Given the description of an element on the screen output the (x, y) to click on. 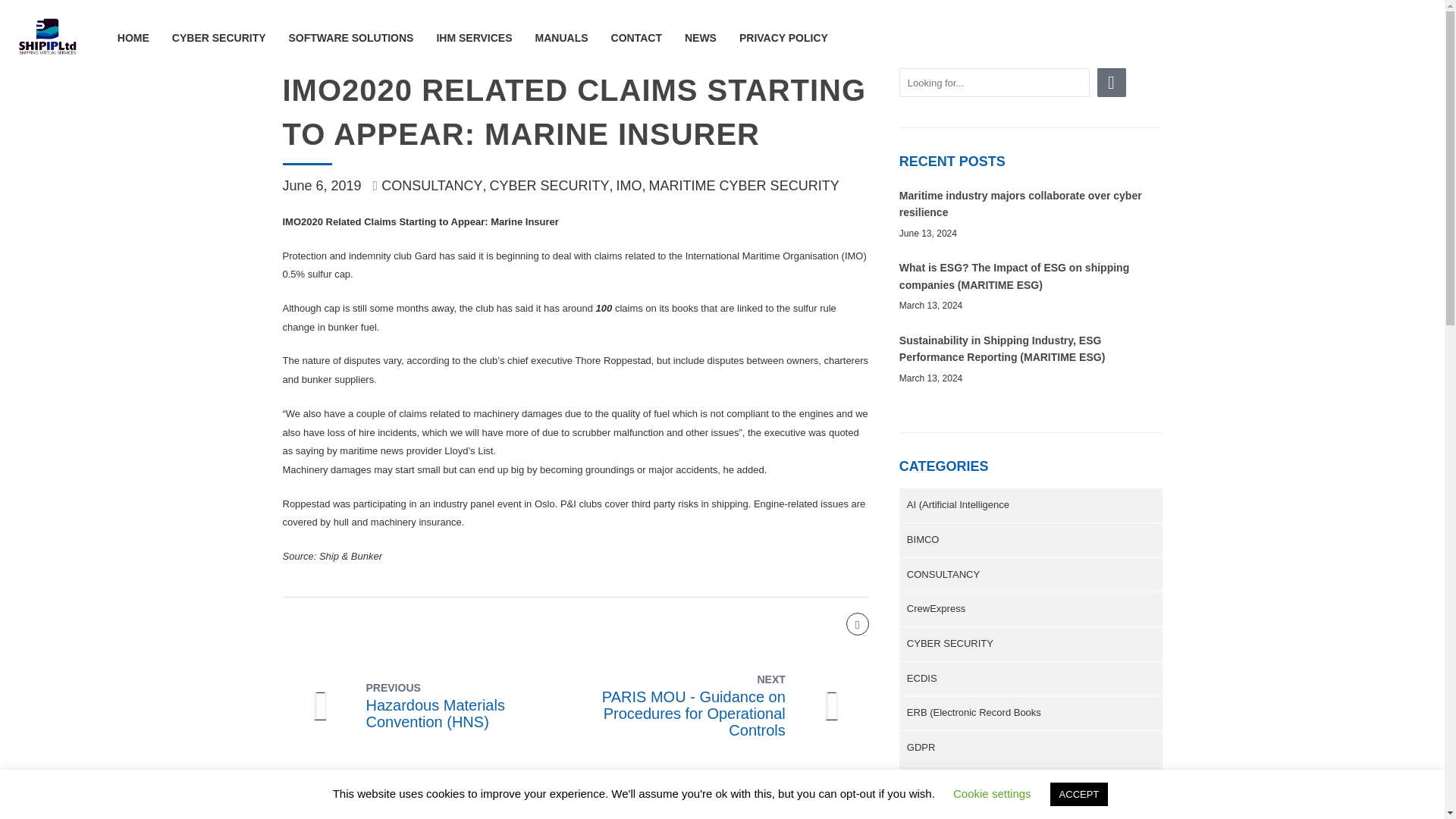
CONSULTANCY (1030, 574)
Maritime industry majors collaborate over cyber resilience (1020, 203)
CYBER SECURITY (218, 37)
IMO (632, 185)
CONSULTANCY (435, 185)
Help widget launcher (1368, 768)
CONTACT (636, 37)
SOFTWARE SOLUTIONS (350, 37)
PRIVACY POLICY (783, 37)
MANUALS (561, 37)
CYBER SECURITY (552, 185)
MARITIME CYBER SECURITY (744, 185)
IHM SERVICES (473, 37)
BIMCO (1030, 540)
